Given the description of an element on the screen output the (x, y) to click on. 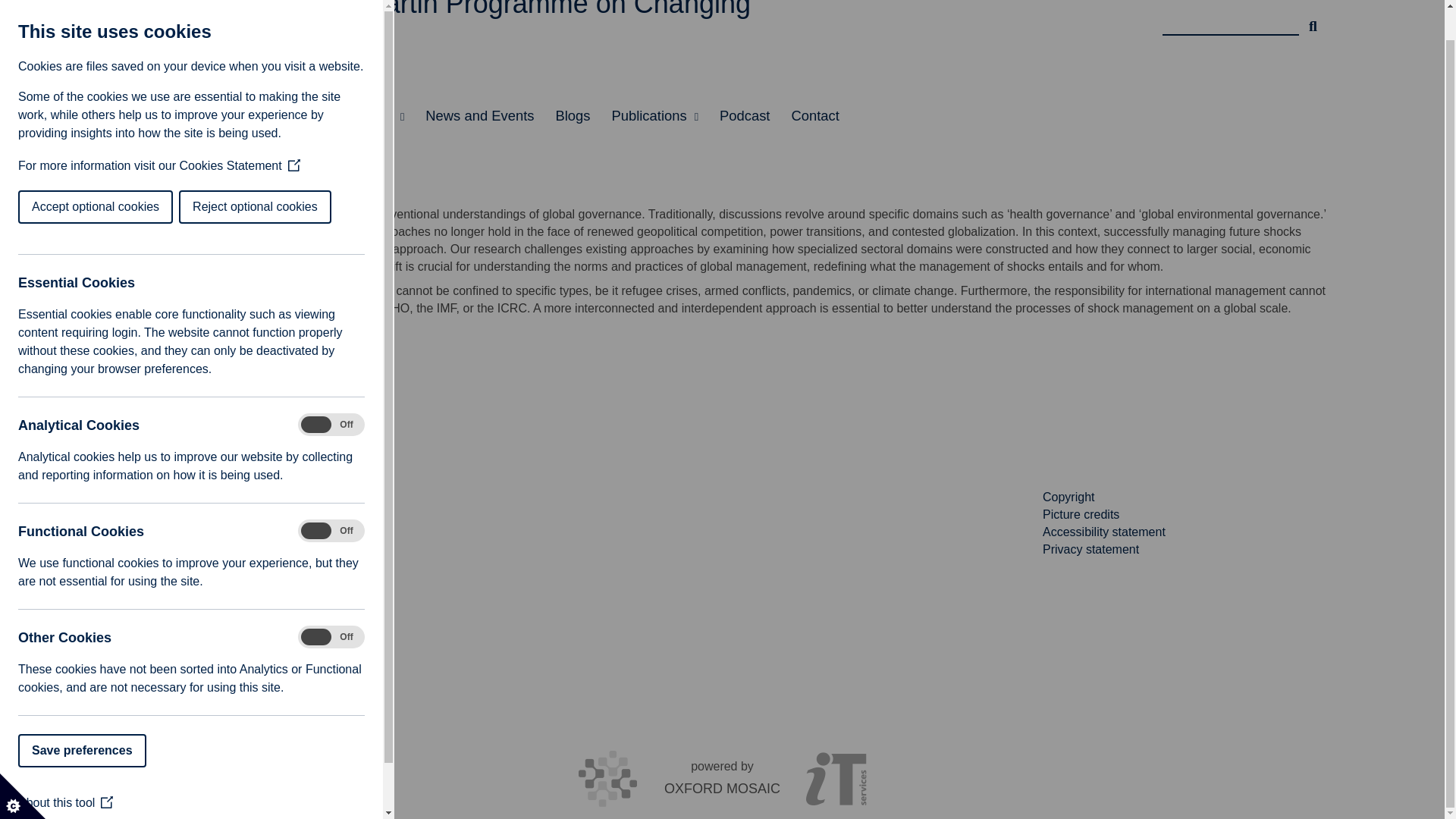
Enter the terms you wish to search for (1229, 20)
Blogs (571, 116)
Home (144, 116)
News and Events (479, 116)
Privacy statement (1090, 548)
Search (1312, 20)
Contact (814, 116)
Research (215, 116)
Copyright (1068, 496)
Picture credits (1080, 513)
Podcast (744, 116)
Oms sq rgb (190, 564)
Accessibility statement (1104, 531)
The Oxford Martin Programme on Changing Global Orders (521, 31)
Reject optional cookies (66, 175)
